Given the description of an element on the screen output the (x, y) to click on. 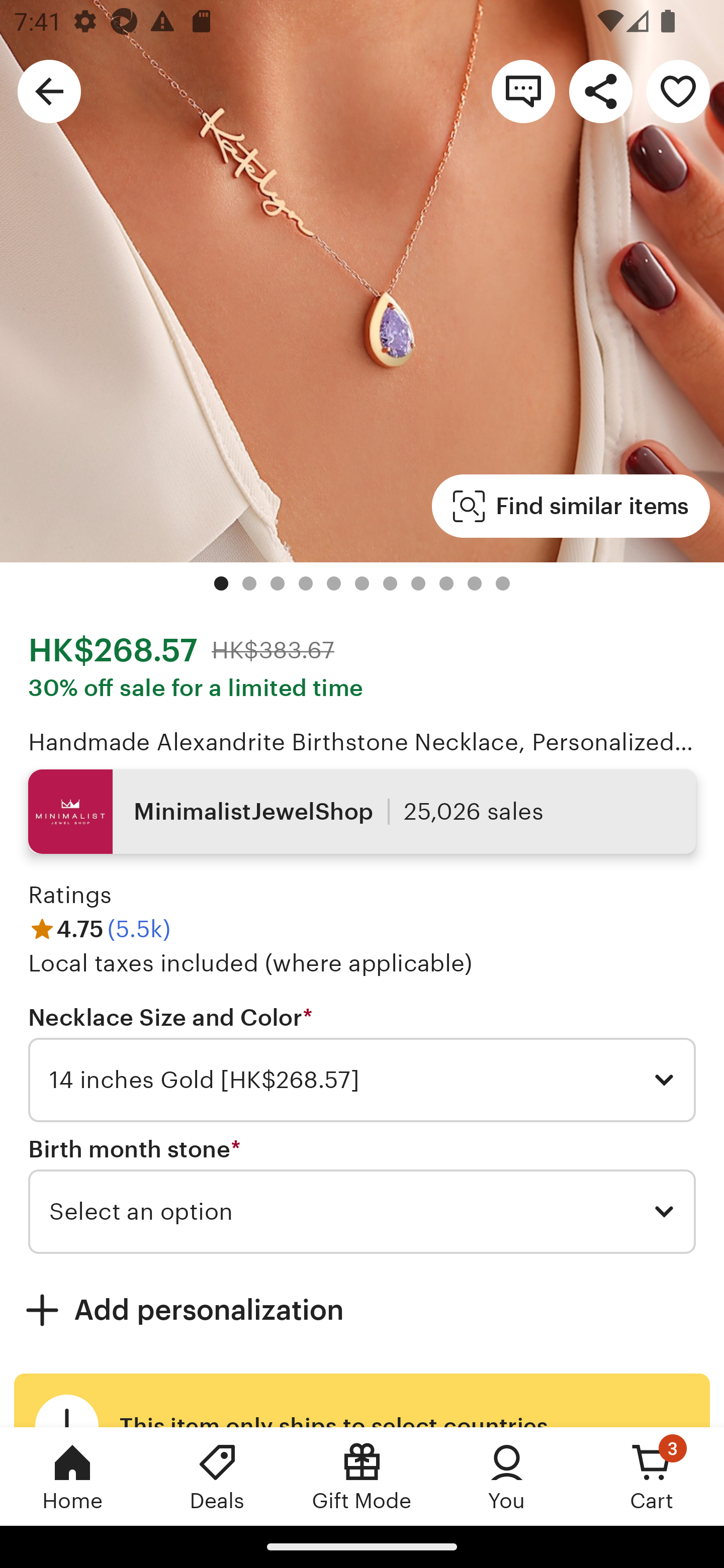
Navigate up (49, 90)
Contact shop (523, 90)
Share (600, 90)
Find similar items (571, 506)
MinimalistJewelShop 25,026 sales (361, 811)
Ratings (70, 894)
4.75 (5.5k) (99, 929)
14 inches Gold [HK$268.57] (361, 1080)
Birth month stone * Required Select an option (361, 1195)
Select an option (361, 1211)
Add personalization Add personalization Required (362, 1309)
Deals (216, 1475)
Gift Mode (361, 1475)
You (506, 1475)
Cart, 3 new notifications Cart (651, 1475)
